Given the description of an element on the screen output the (x, y) to click on. 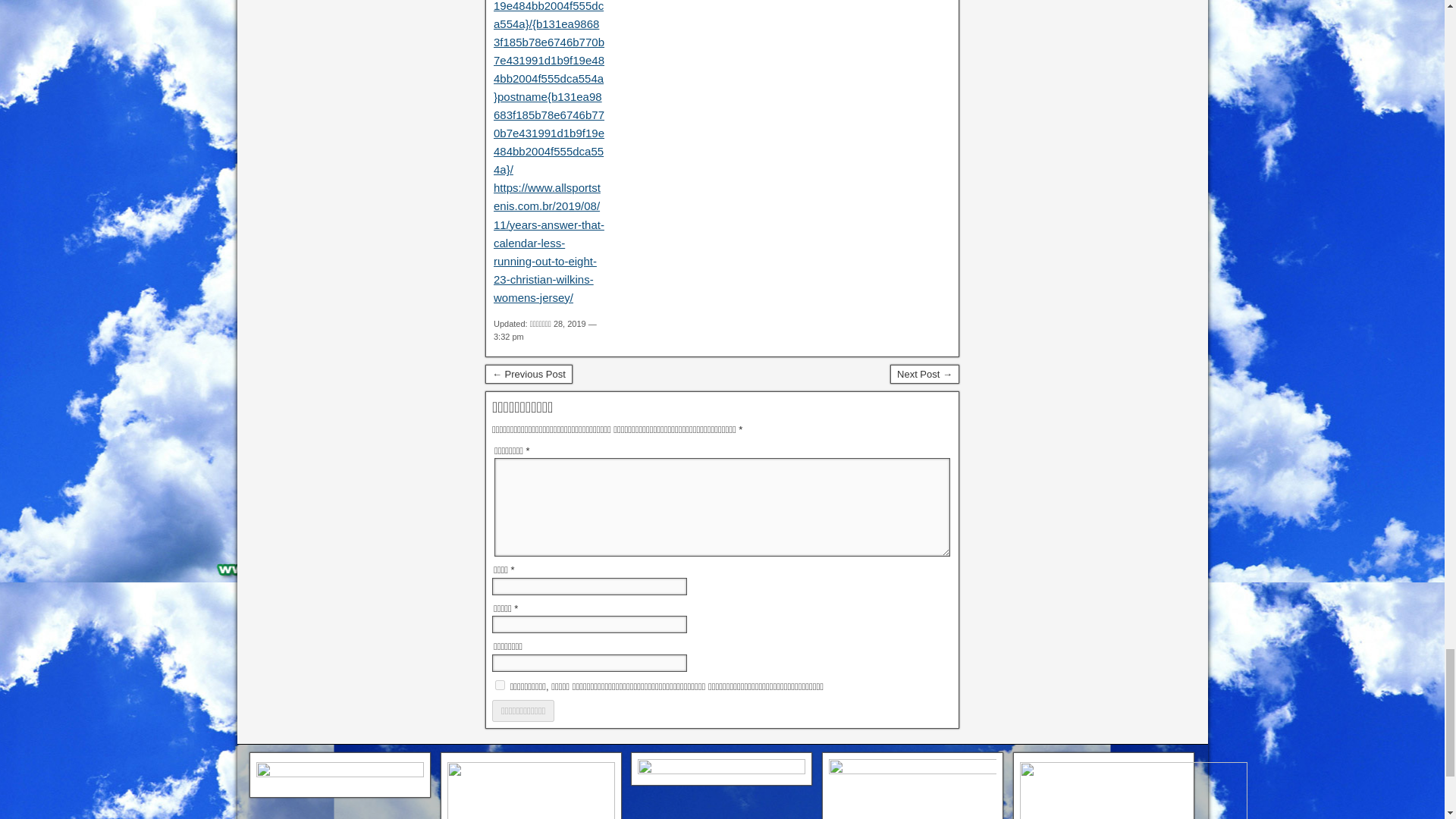
8 roof was think rain Womens Anthony DeAngelo Jersey (924, 374)
yes (500, 685)
